Given the description of an element on the screen output the (x, y) to click on. 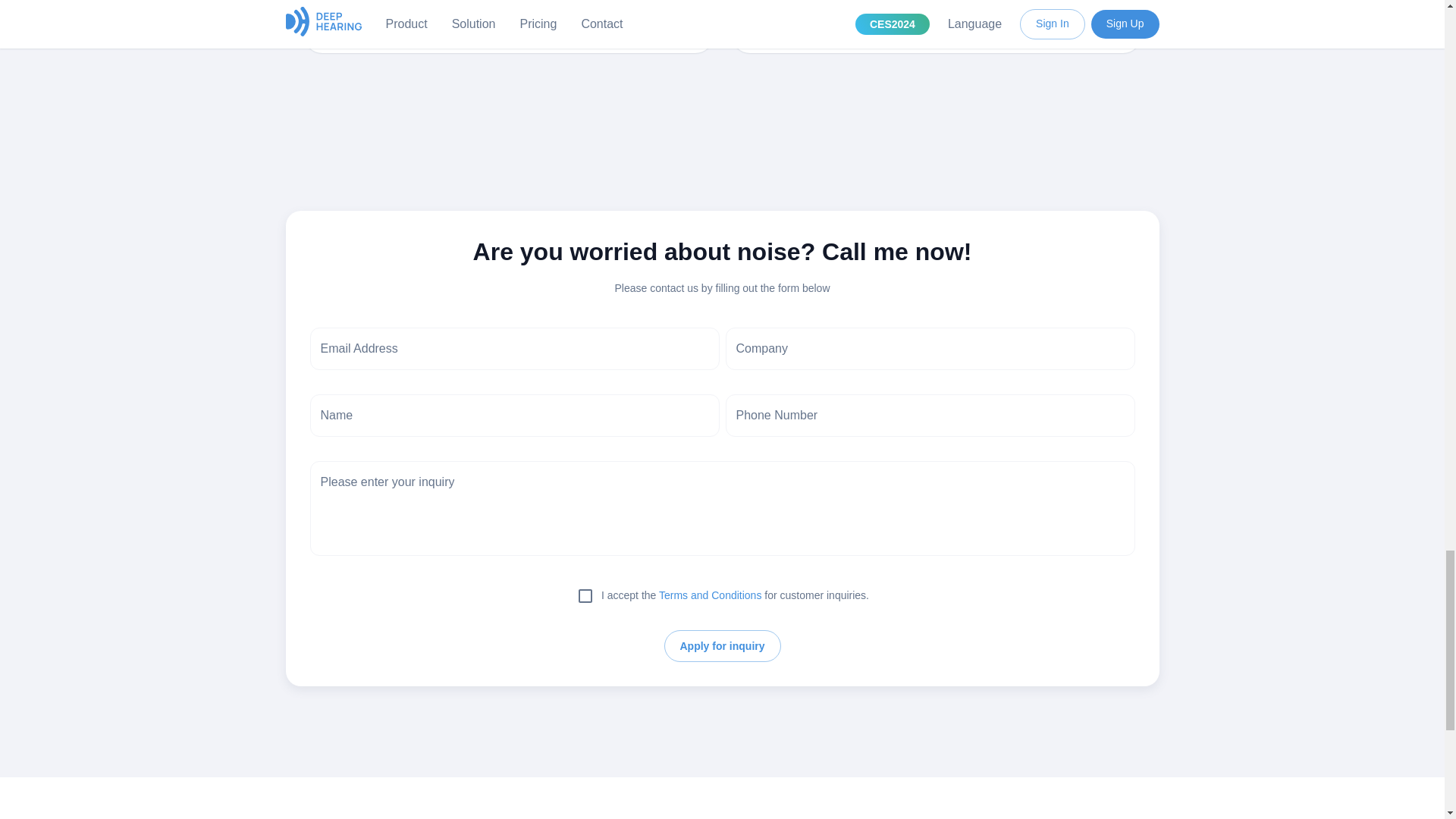
Apply for inquiry (721, 645)
Terms and Conditions (710, 594)
